Given the description of an element on the screen output the (x, y) to click on. 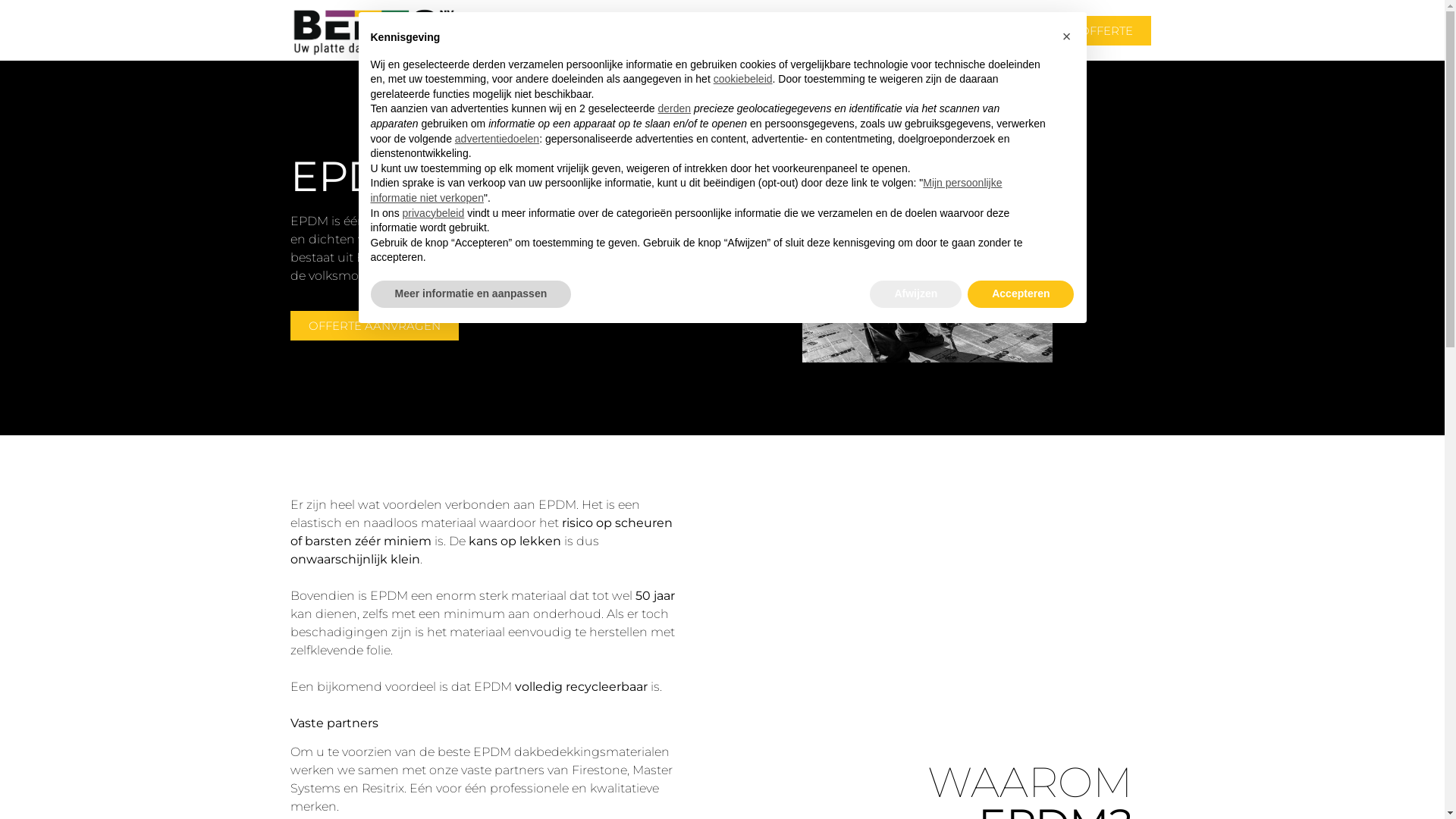
derden Element type: text (674, 108)
DIENSTEN Element type: text (799, 29)
cookiebeleid Element type: text (742, 78)
HOME Element type: text (617, 29)
OFFERTE AANVRAGEN Element type: text (373, 325)
Accepteren Element type: text (1020, 293)
Meer informatie en aanpassen Element type: text (470, 293)
Afwijzen Element type: text (915, 293)
CONTACT Element type: text (991, 29)
OVER BEETS Element type: text (699, 29)
REALISATIES Element type: text (899, 29)
Mijn persoonlijke informatie niet verkopen Element type: text (685, 189)
OFFERTE Element type: text (1106, 29)
privacybeleid Element type: text (433, 213)
advertentiedoelen Element type: text (497, 138)
